Given the description of an element on the screen output the (x, y) to click on. 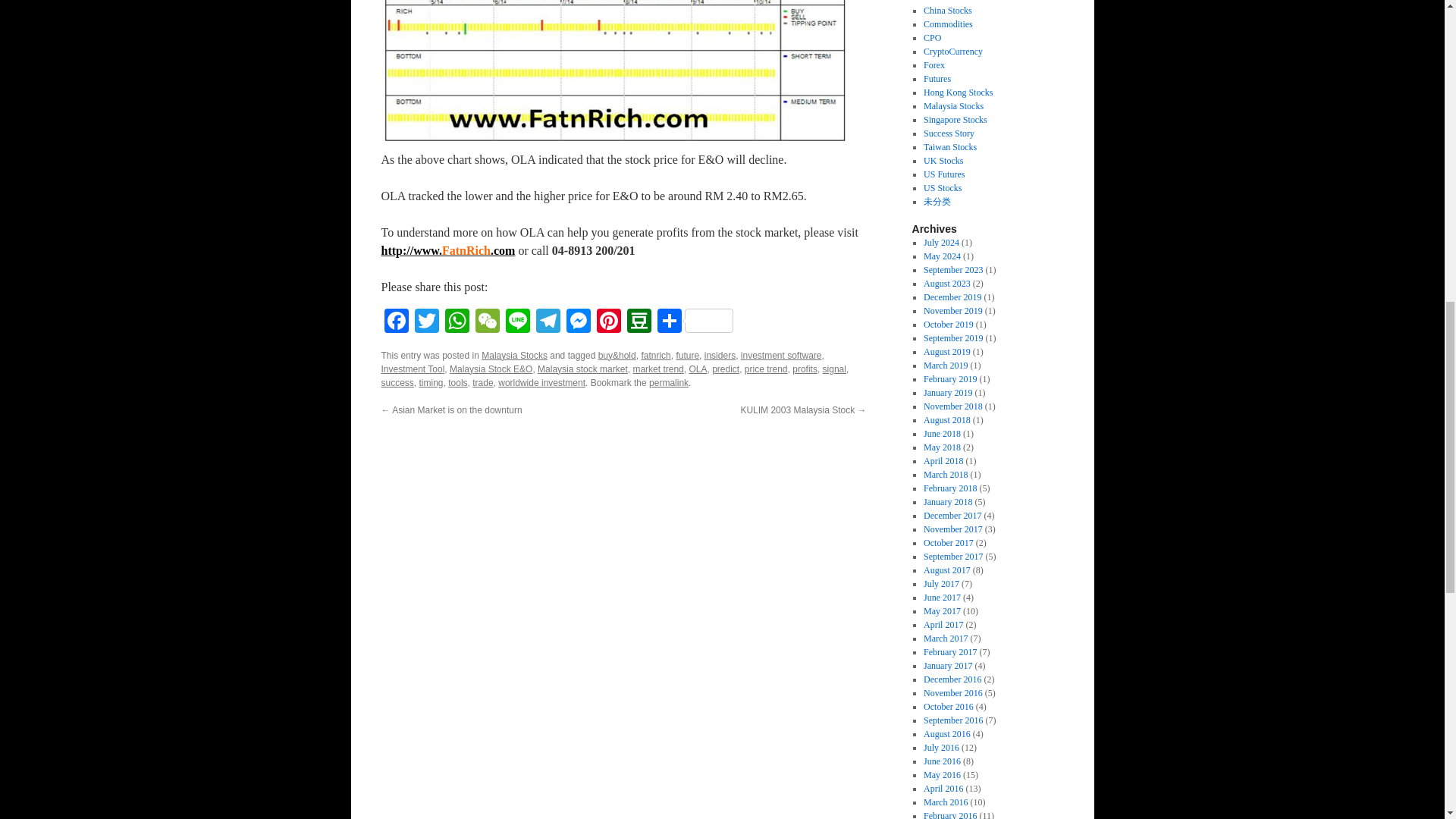
Line (517, 322)
WhatsApp (456, 322)
Line (517, 322)
signal (833, 368)
insiders (719, 355)
Malaysia stock market (582, 368)
Messenger (577, 322)
Facebook (395, 322)
Twitter (425, 322)
WhatsApp (456, 322)
Douban (638, 322)
price trend (765, 368)
predict (725, 368)
FatnRich (447, 250)
investment software (781, 355)
